Given the description of an element on the screen output the (x, y) to click on. 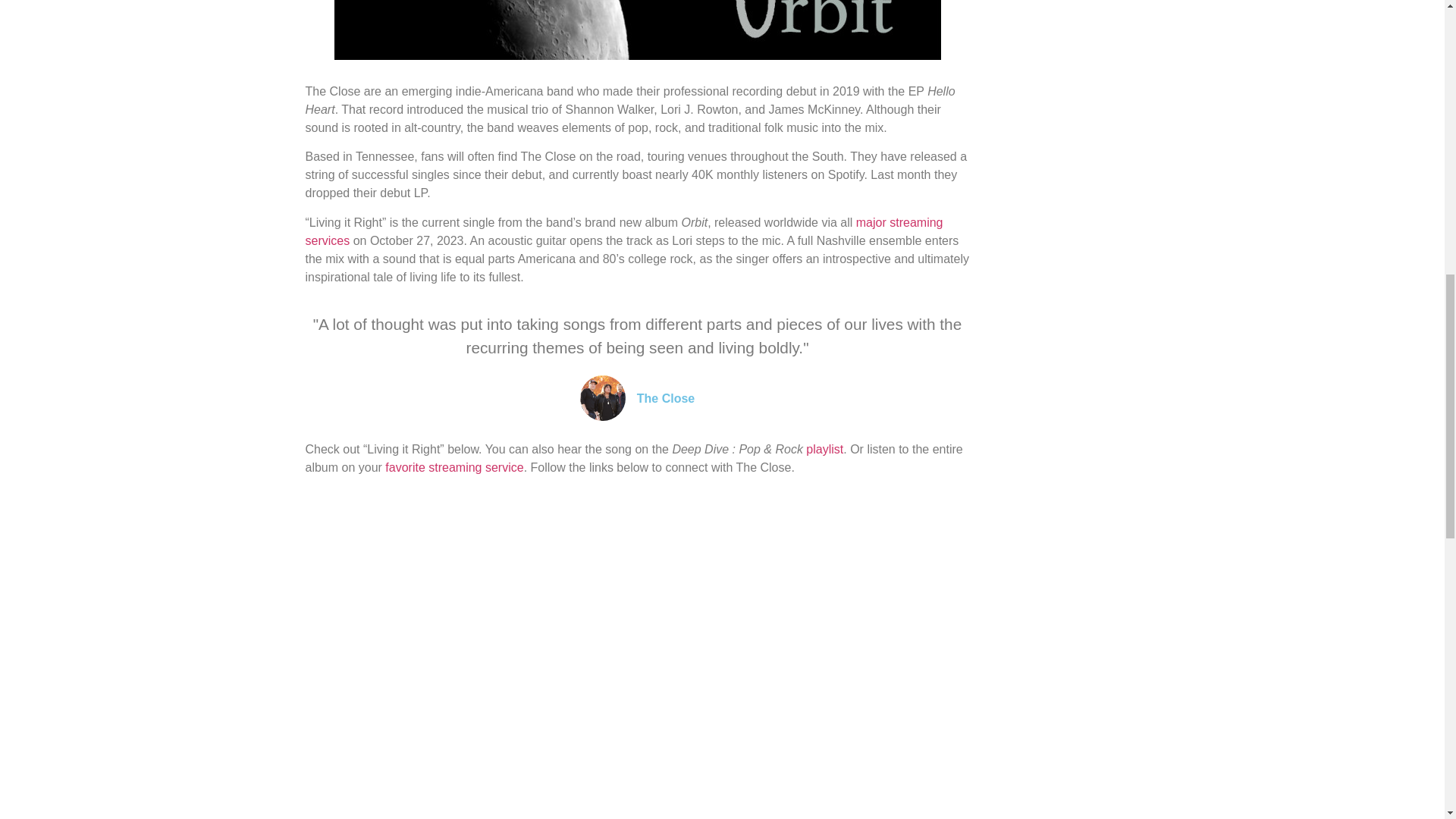
favorite streaming service (453, 467)
major streaming services (623, 231)
playlist (824, 449)
